Given the description of an element on the screen output the (x, y) to click on. 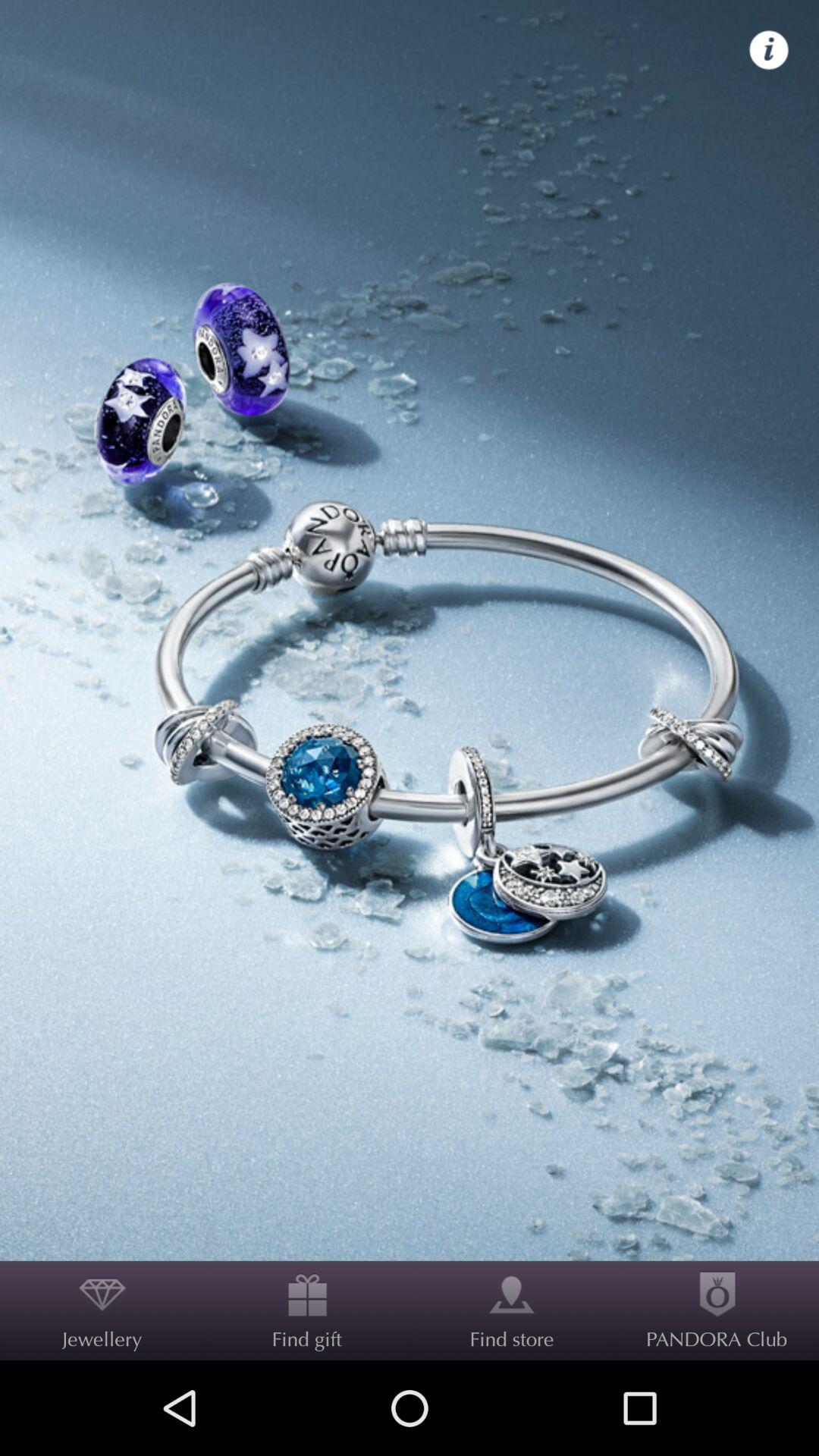
icon (768, 49)
